Given the description of an element on the screen output the (x, y) to click on. 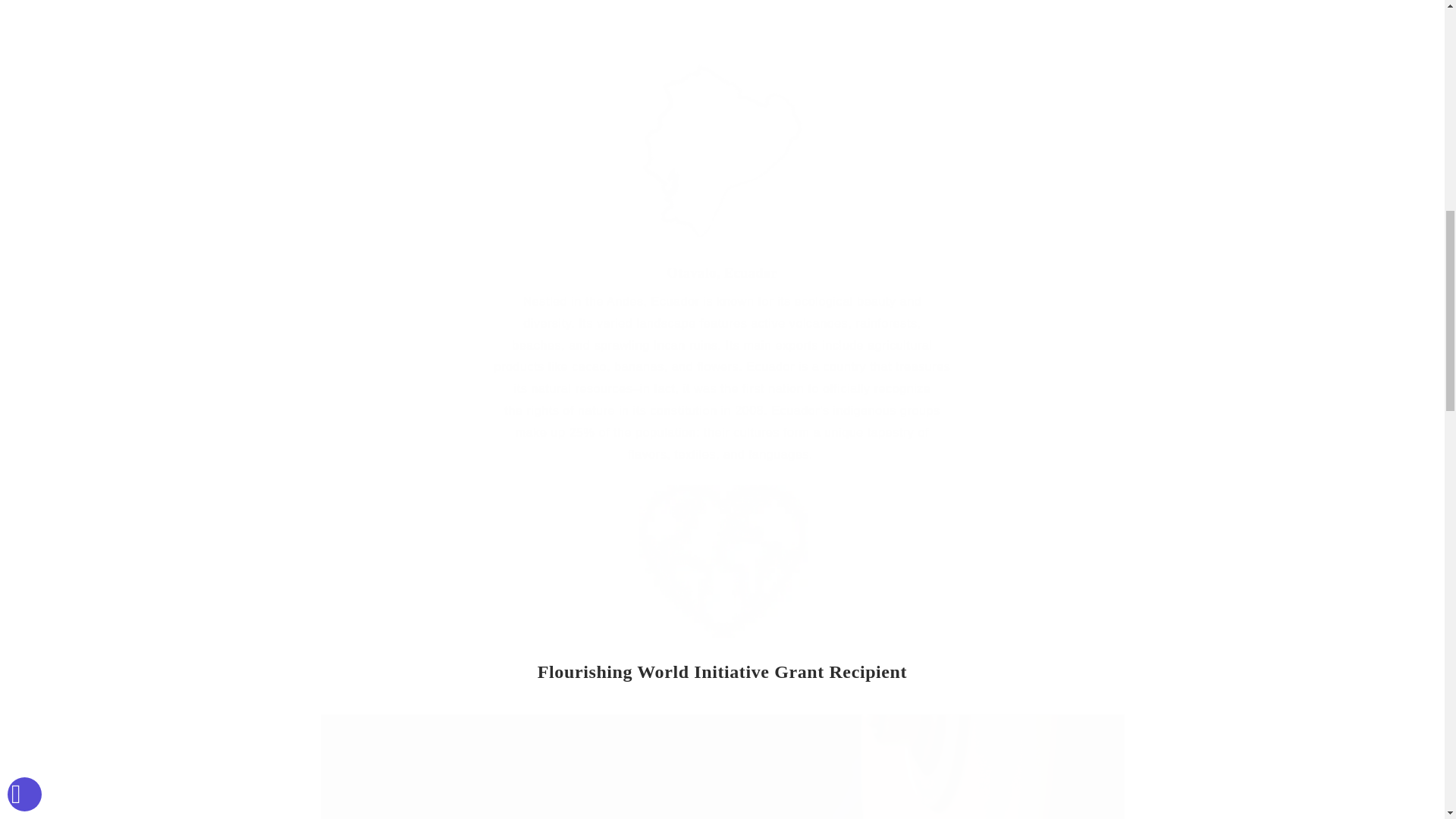
0 (721, 579)
